Given the description of an element on the screen output the (x, y) to click on. 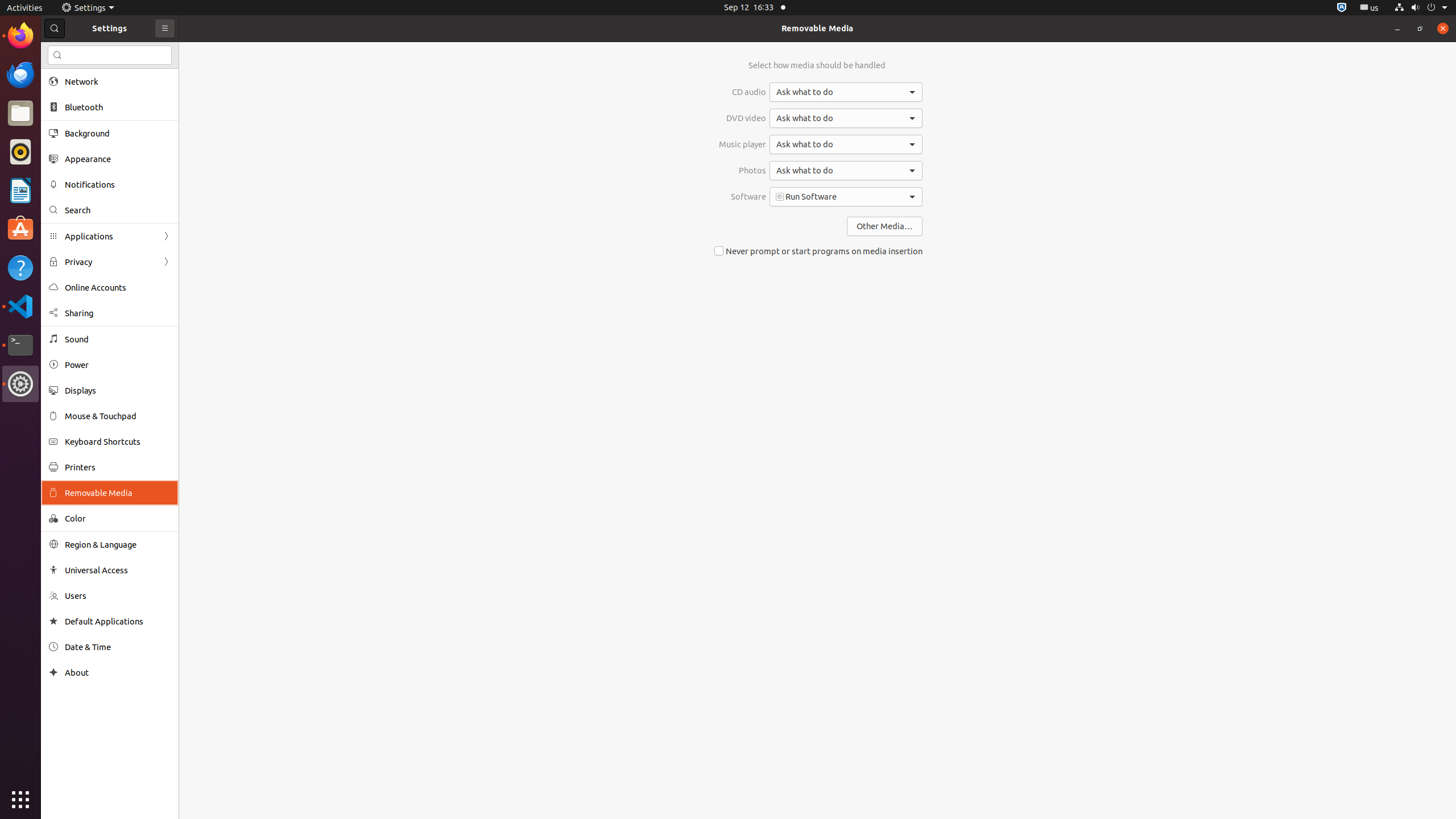
Applications Element type: label (109, 236)
Default Applications Element type: label (117, 621)
DVD video Element type: label (742, 117)
Color Element type: label (117, 518)
edit-find-symbolic Element type: icon (56, 54)
